Given the description of an element on the screen output the (x, y) to click on. 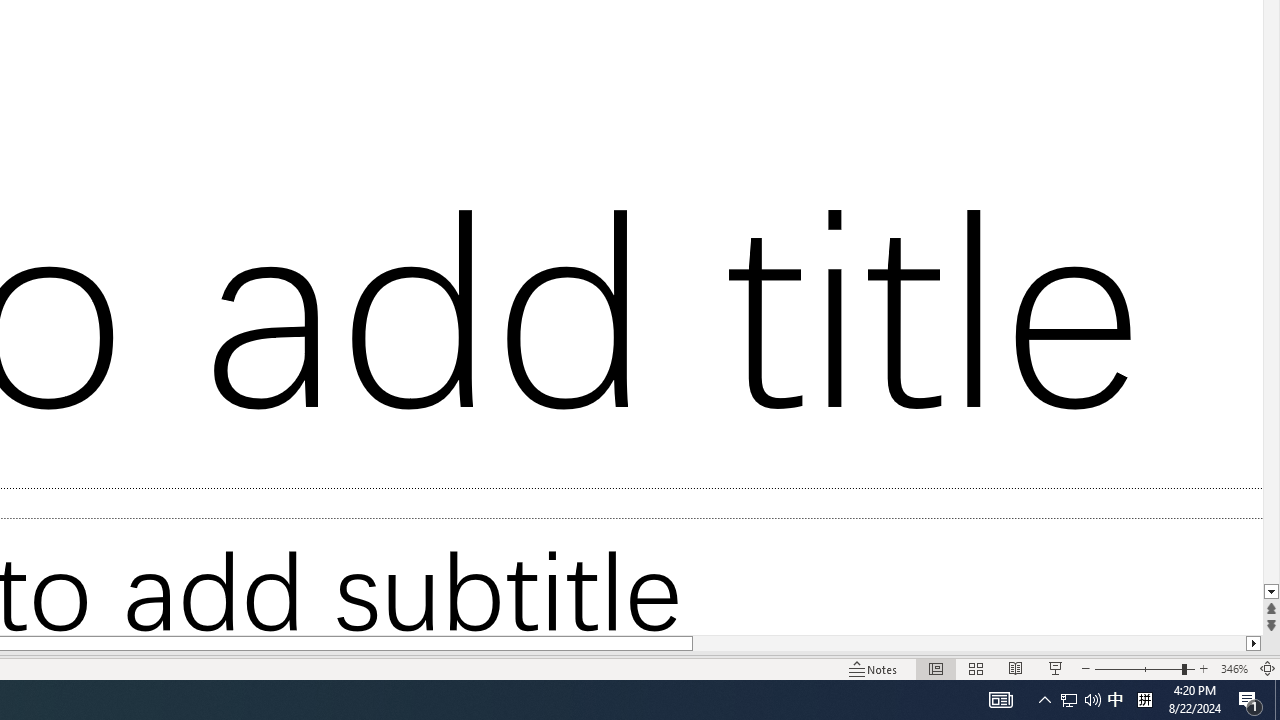
Zoom Out (1137, 668)
Notes  (874, 668)
Slide Sorter (975, 668)
Slide Show (1055, 668)
Normal (936, 668)
Zoom to Fit  (1267, 668)
Reading View (1015, 668)
Zoom 346% (1234, 668)
Zoom In (1204, 668)
Zoom (1144, 668)
